Given the description of an element on the screen output the (x, y) to click on. 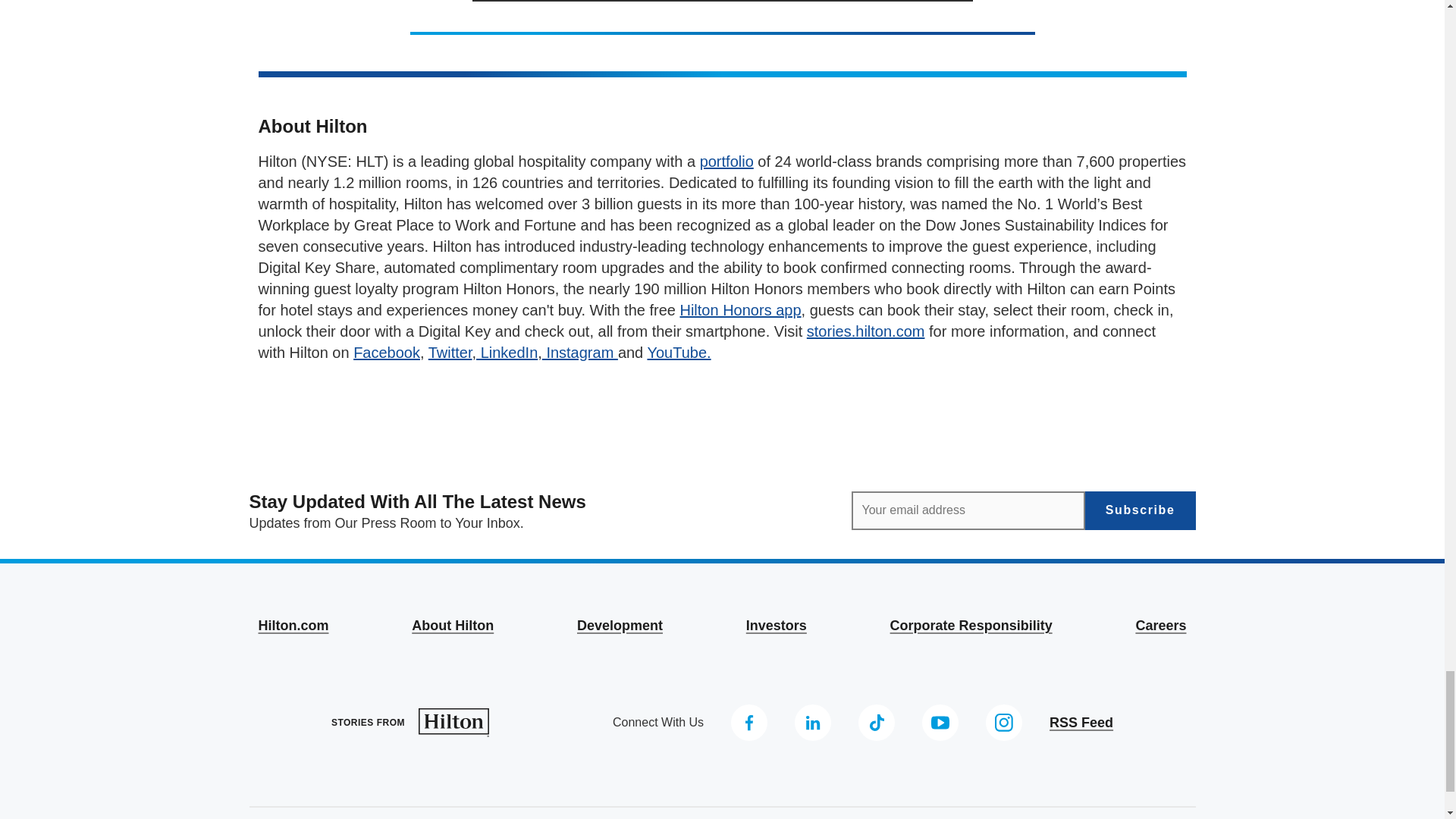
Stories From Hilton (410, 722)
Subscribe (1139, 510)
